Given the description of an element on the screen output the (x, y) to click on. 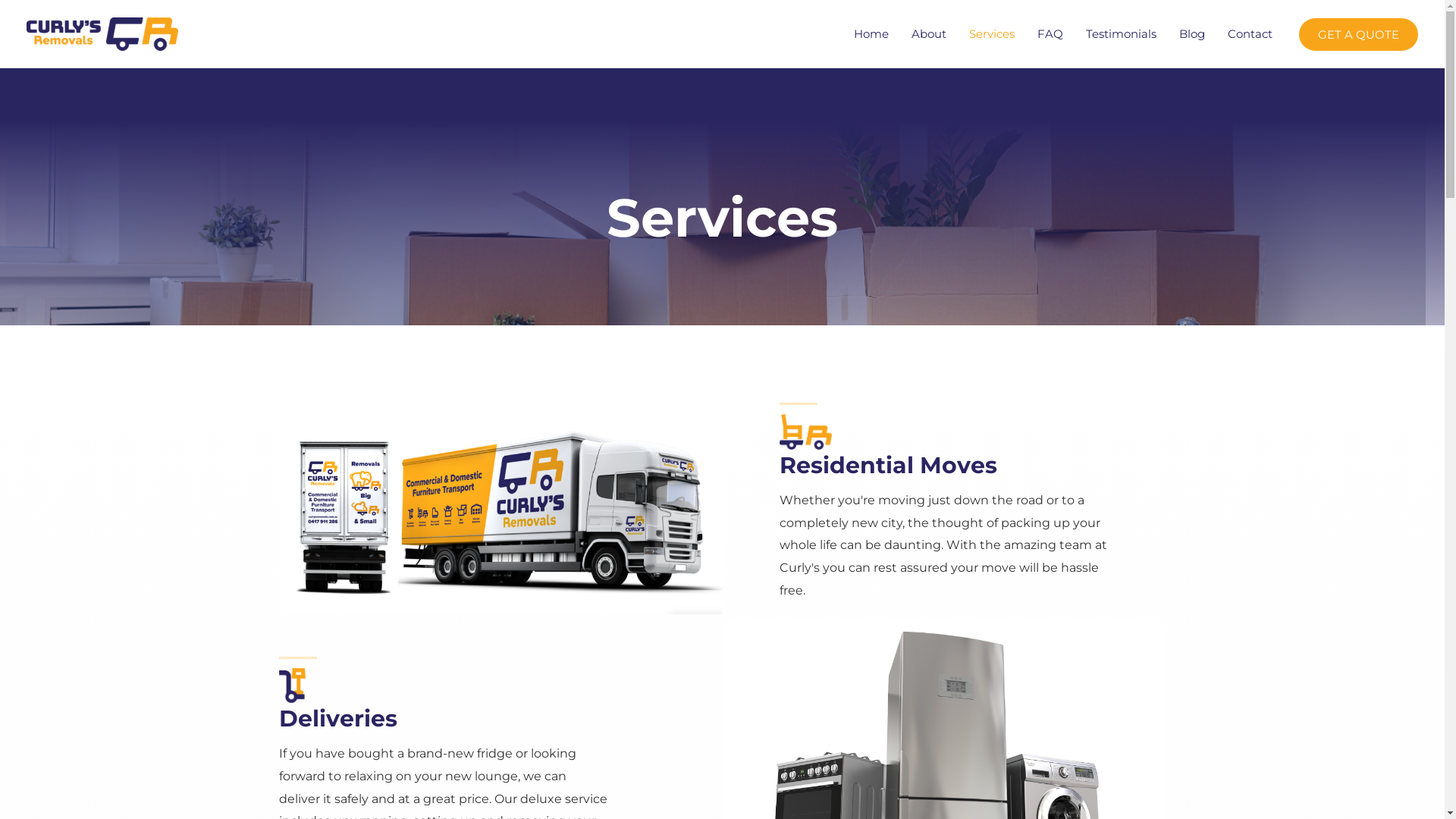
About Element type: text (928, 34)
Screen Shot 2021-05-31 at 9.47.54 pm Element type: hover (500, 510)
Blog Element type: text (1191, 34)
Testimonials Element type: text (1120, 34)
wpforms-submit Element type: text (640, 585)
GET A QUOTE Element type: text (1358, 34)
Services Element type: text (991, 34)
Home Element type: text (871, 34)
Contact Element type: text (1249, 34)
FAQ Element type: text (1050, 34)
